Given the description of an element on the screen output the (x, y) to click on. 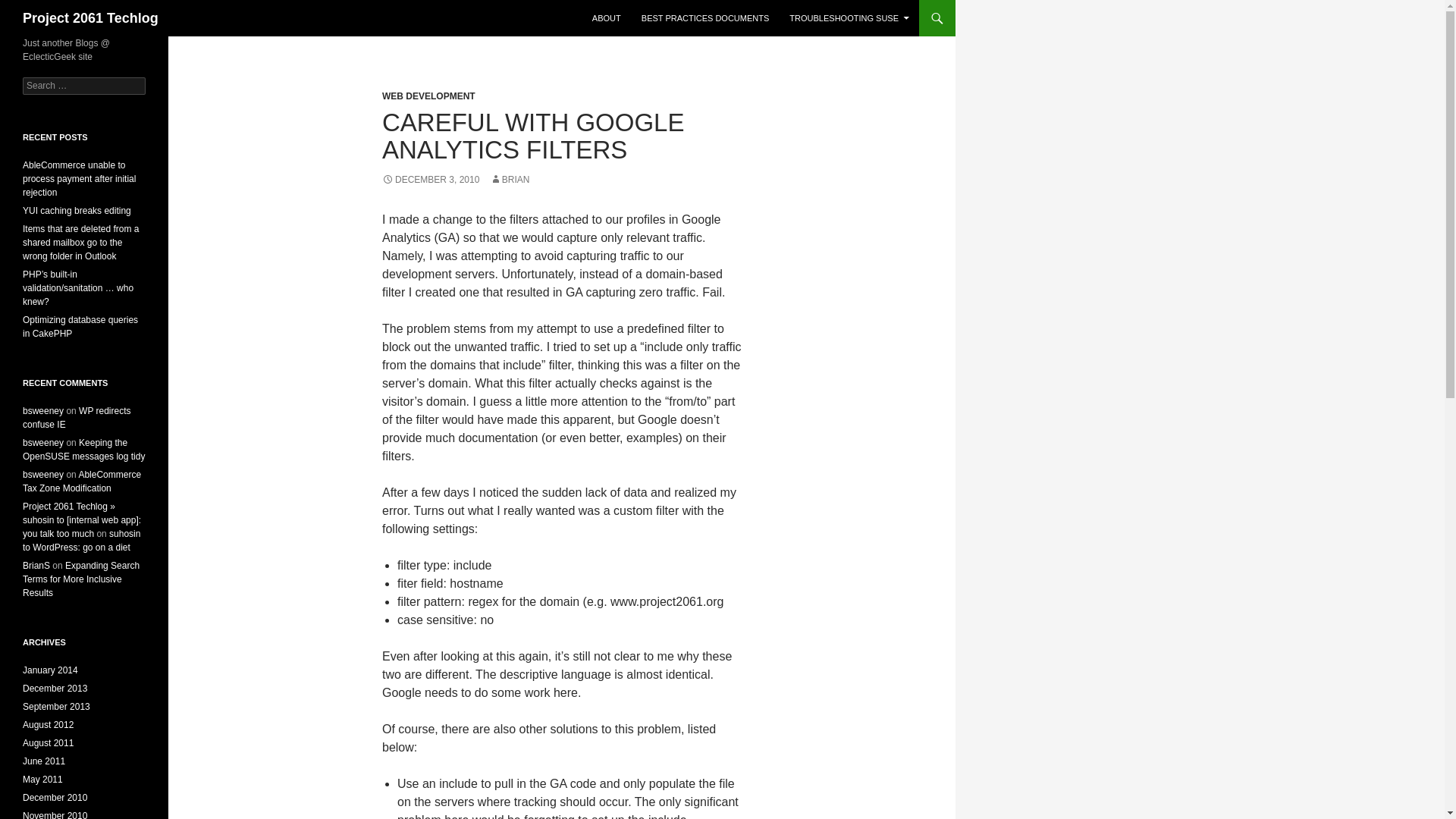
Keeping the OpenSUSE messages log tidy (83, 449)
September 2013 (56, 706)
January 2014 (50, 670)
DECEMBER 3, 2010 (430, 179)
August 2012 (48, 724)
Search (30, 8)
TROUBLESHOOTING SUSE (849, 18)
AbleCommerce Tax Zone Modification (82, 481)
Project 2061 Techlog (90, 18)
BRIAN (509, 179)
